Given the description of an element on the screen output the (x, y) to click on. 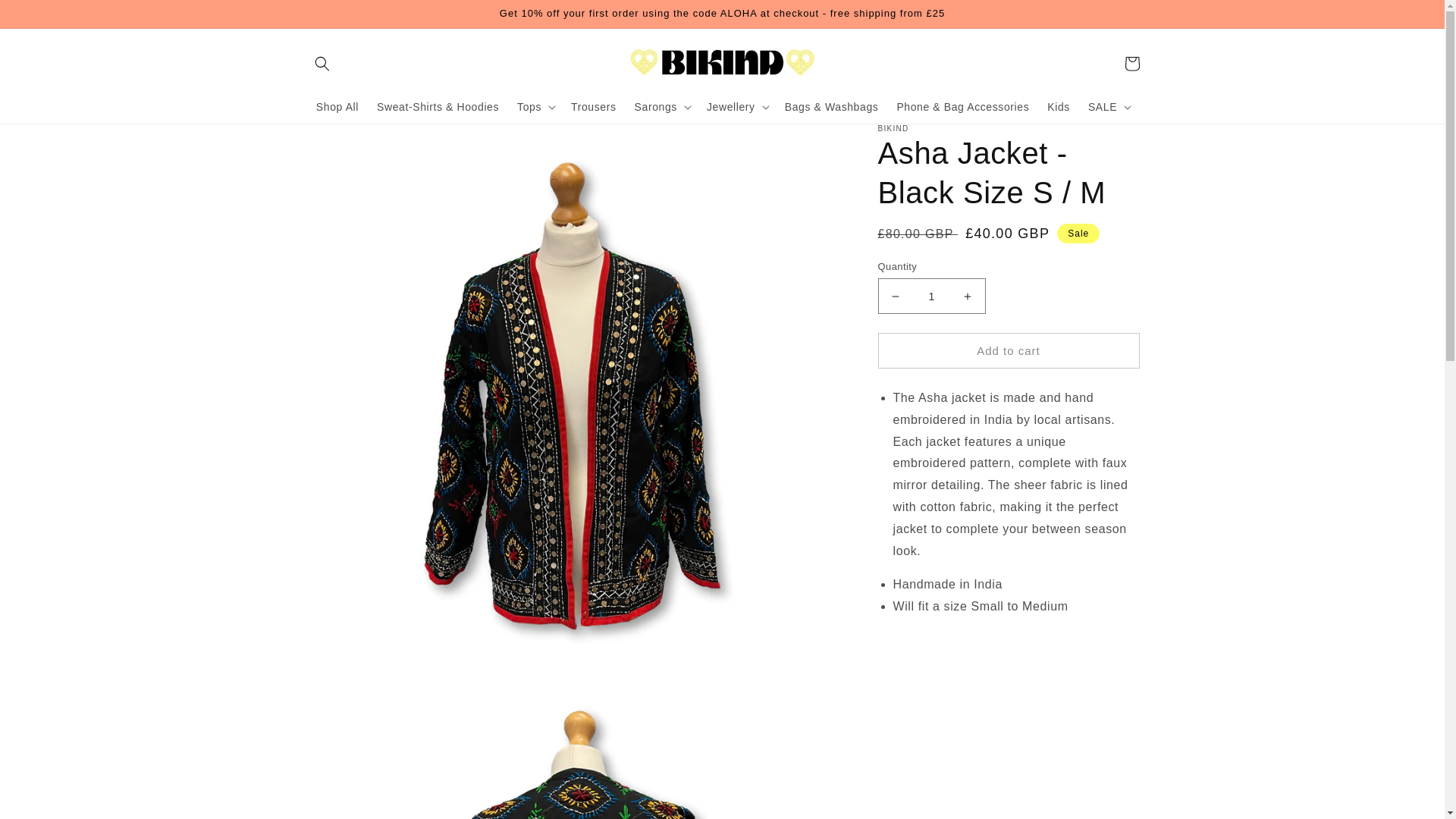
1 (931, 295)
Shop All (337, 106)
Trousers (594, 106)
Skip to content (45, 17)
